Given the description of an element on the screen output the (x, y) to click on. 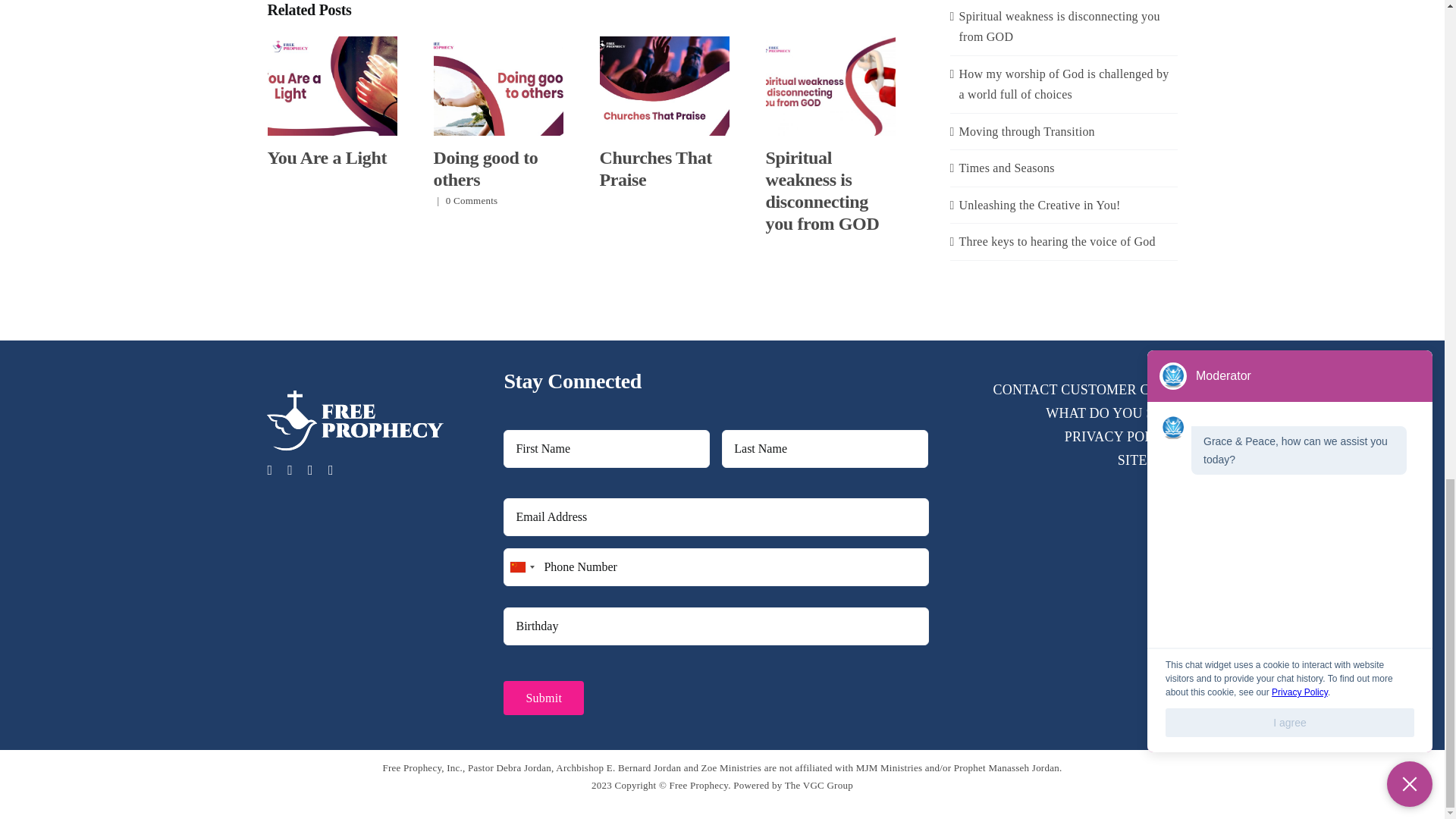
Submit (543, 697)
